Given the description of an element on the screen output the (x, y) to click on. 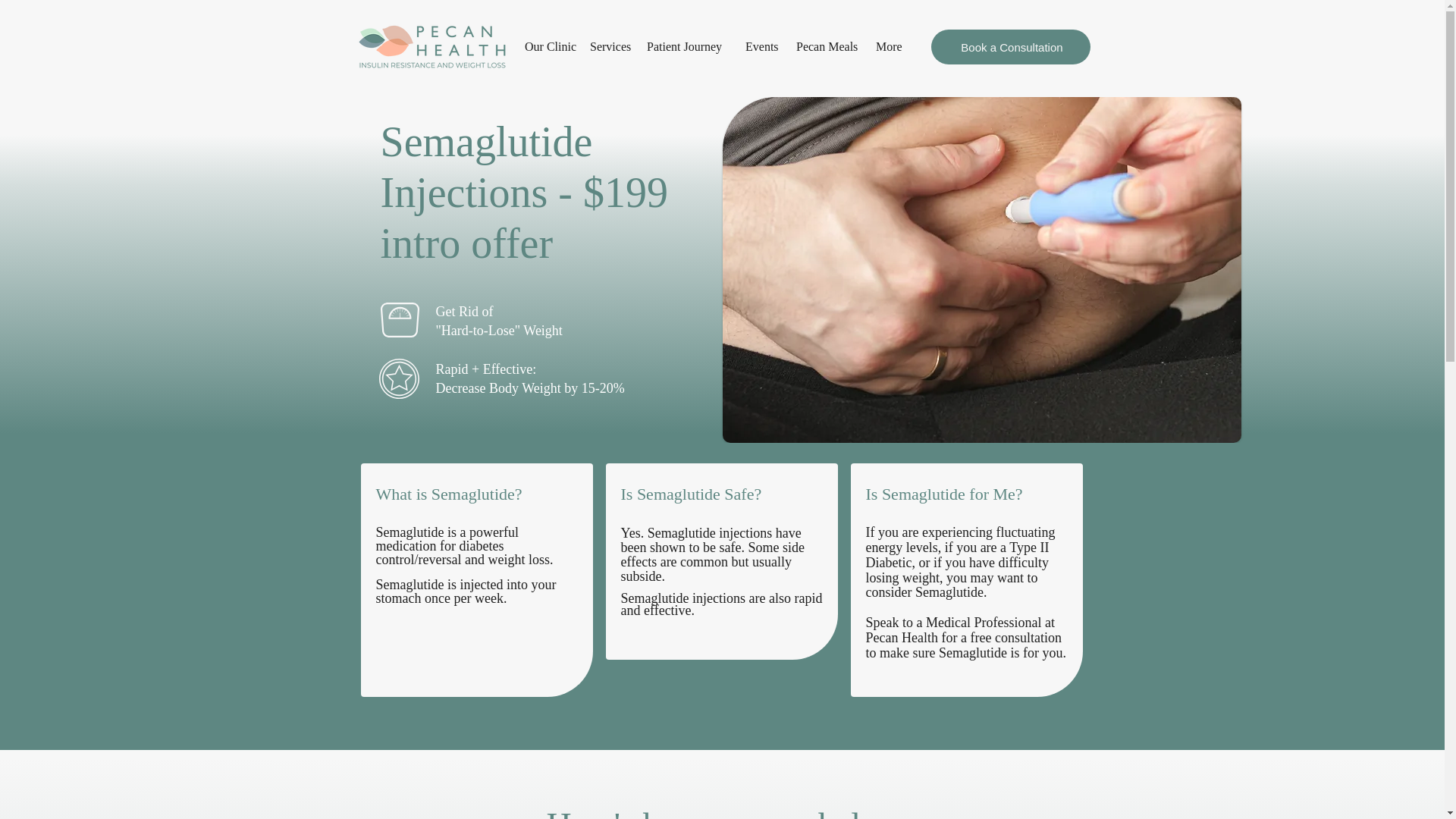
Pecan Meals (828, 47)
Services (610, 47)
Patient Journey (688, 47)
Our Clinic (549, 47)
Events (763, 47)
Book a Consultation (1010, 46)
